Given the description of an element on the screen output the (x, y) to click on. 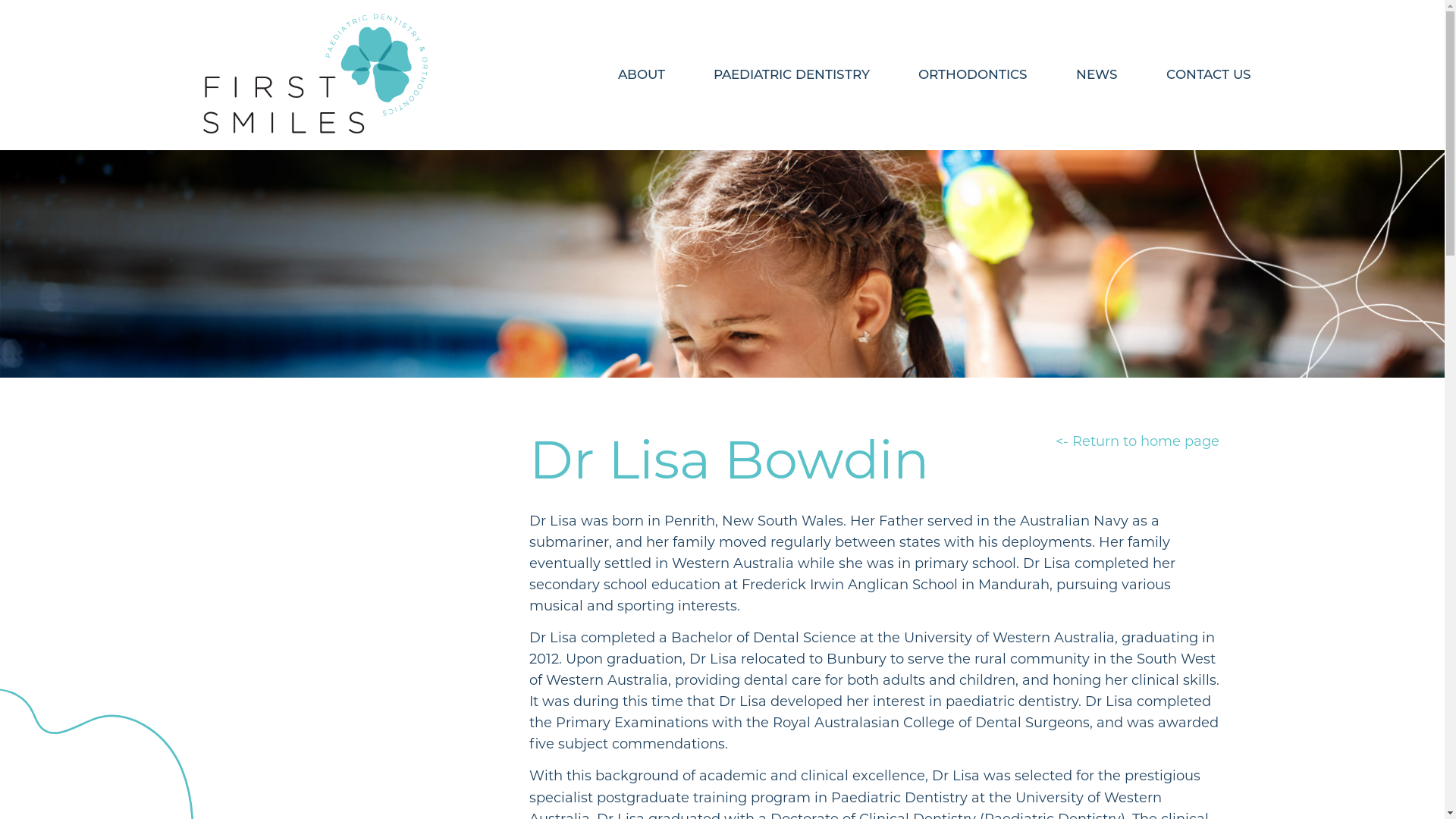
First Smiles Element type: text (315, 73)
ABOUT Element type: text (640, 73)
PAEDIATRIC DENTISTRY Element type: text (790, 73)
ORTHODONTICS Element type: text (972, 73)
CONTACT US Element type: text (1208, 73)
NEWS Element type: text (1095, 73)
<- Return to home page Element type: text (1137, 440)
